Given the description of an element on the screen output the (x, y) to click on. 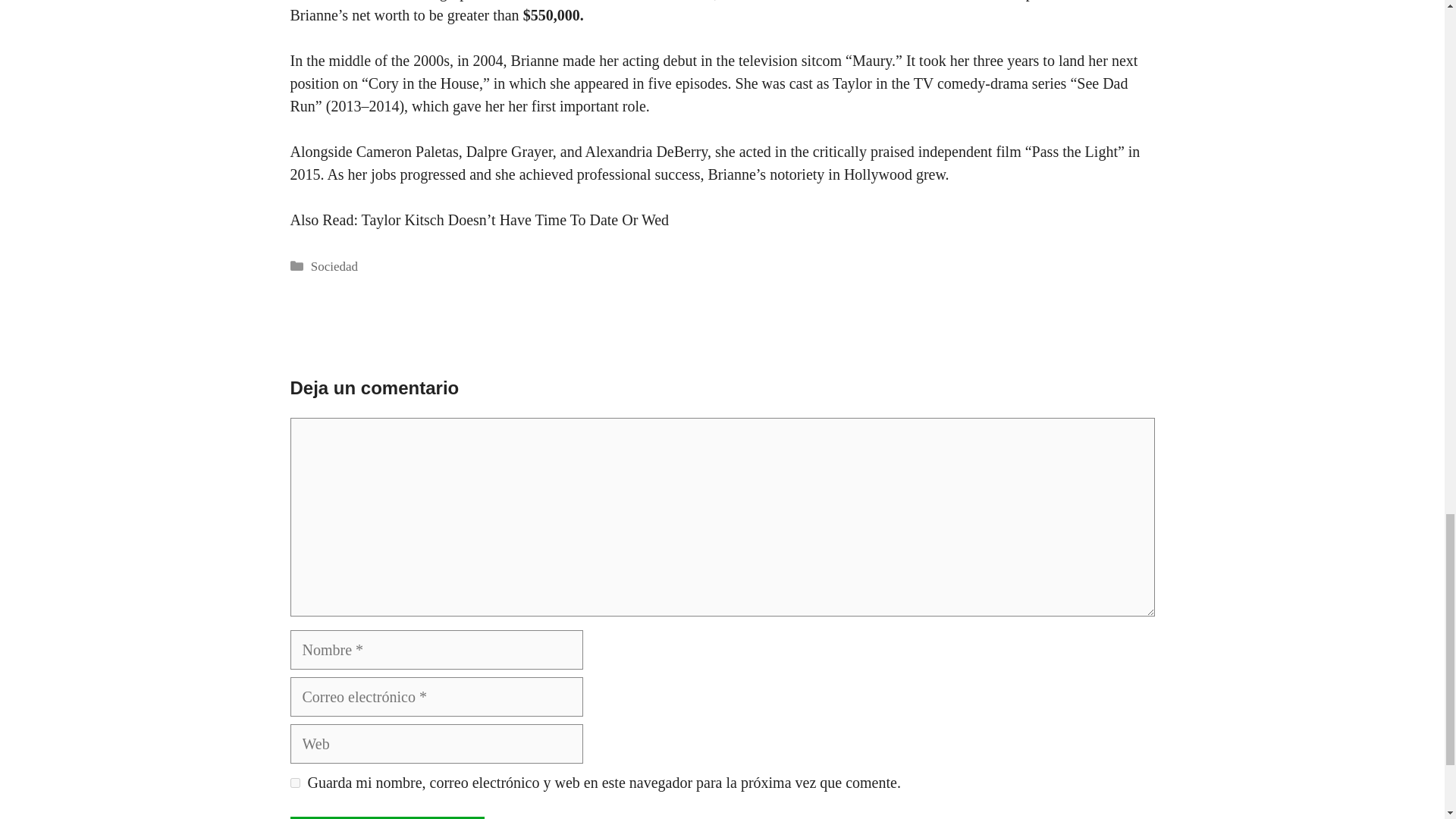
yes (294, 782)
Publicar comentario (386, 817)
Publicar comentario (386, 817)
Sociedad (334, 266)
